Given the description of an element on the screen output the (x, y) to click on. 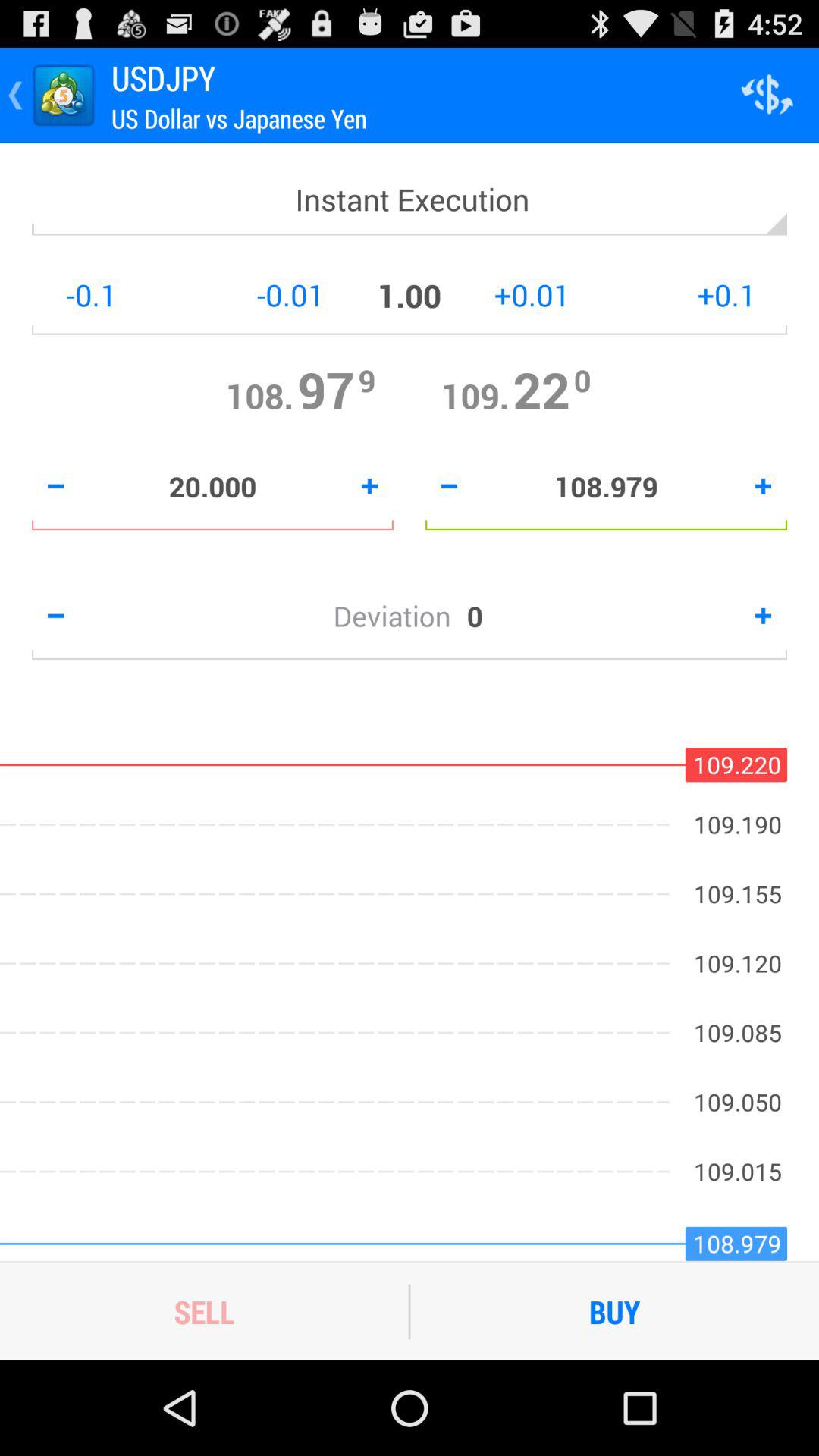
choose the item to the left of 0 (399, 615)
